Given the description of an element on the screen output the (x, y) to click on. 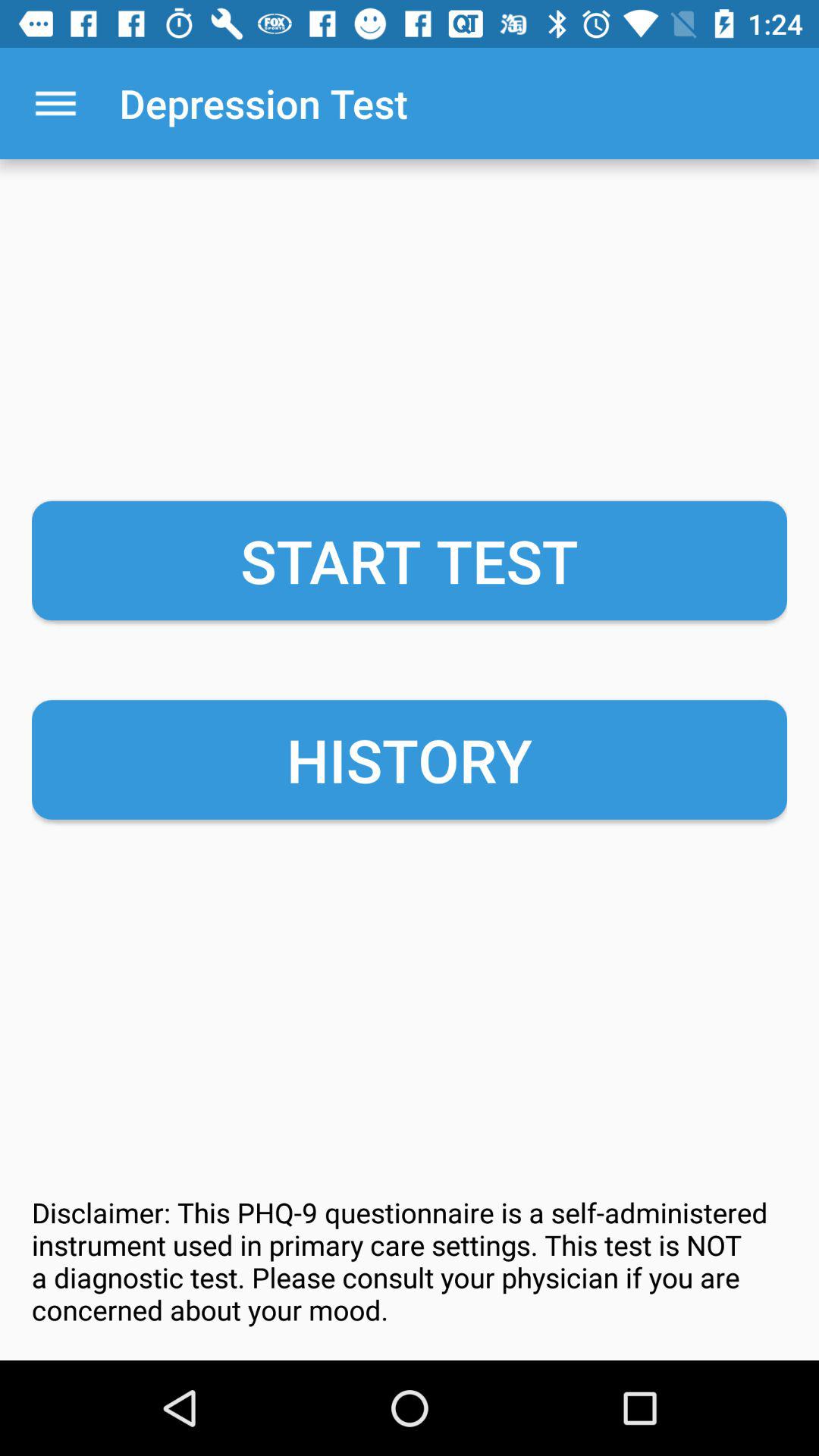
turn on the item above history item (409, 560)
